Given the description of an element on the screen output the (x, y) to click on. 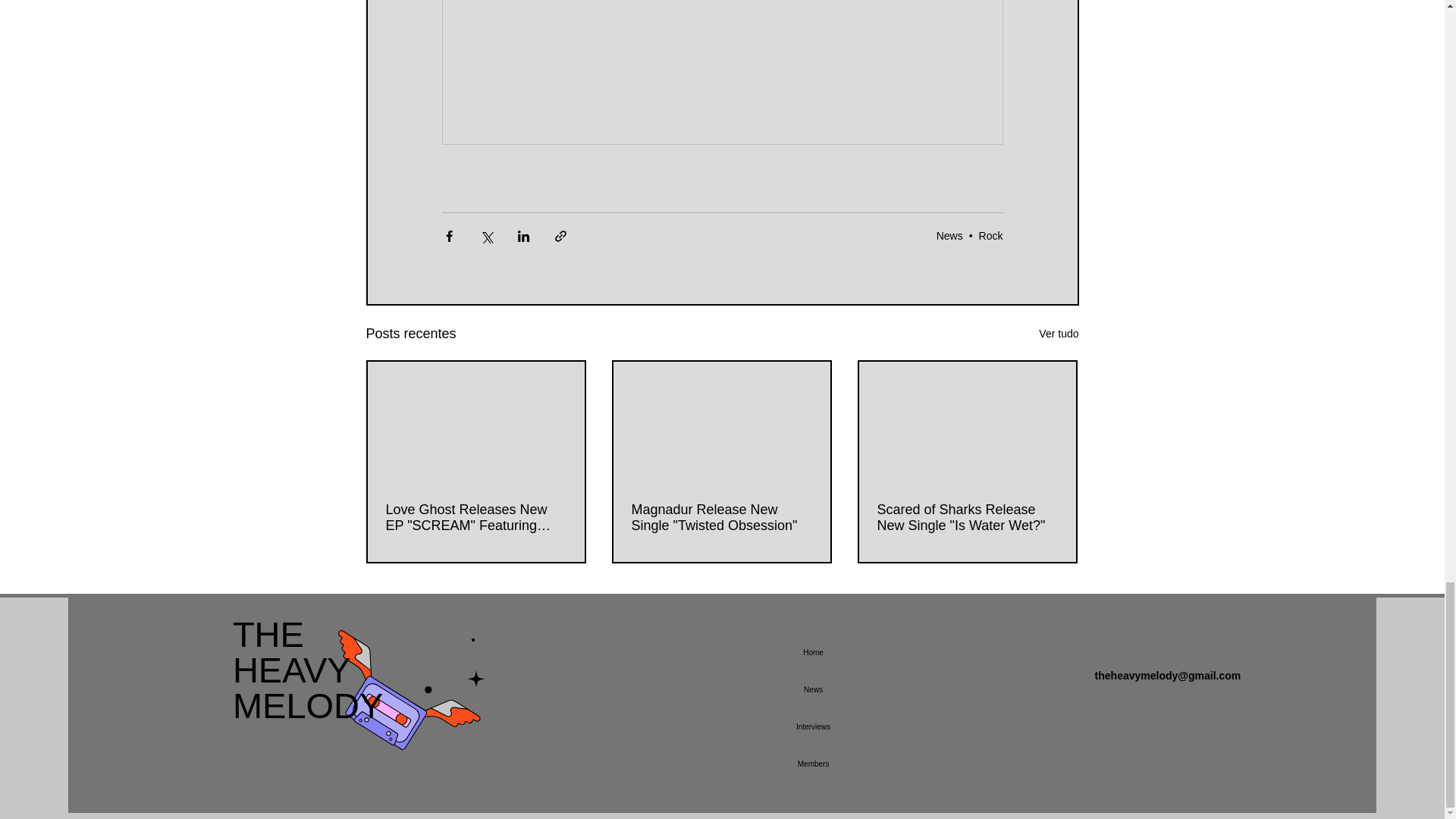
Ver tudo (1058, 333)
Home (308, 669)
News (813, 651)
Scared of Sharks Release New Single "Is Water Wet?" (949, 235)
Magnadur Release New Single "Twisted Obsession" (966, 517)
Interviews (720, 517)
Rock (813, 726)
News (990, 235)
